Given the description of an element on the screen output the (x, y) to click on. 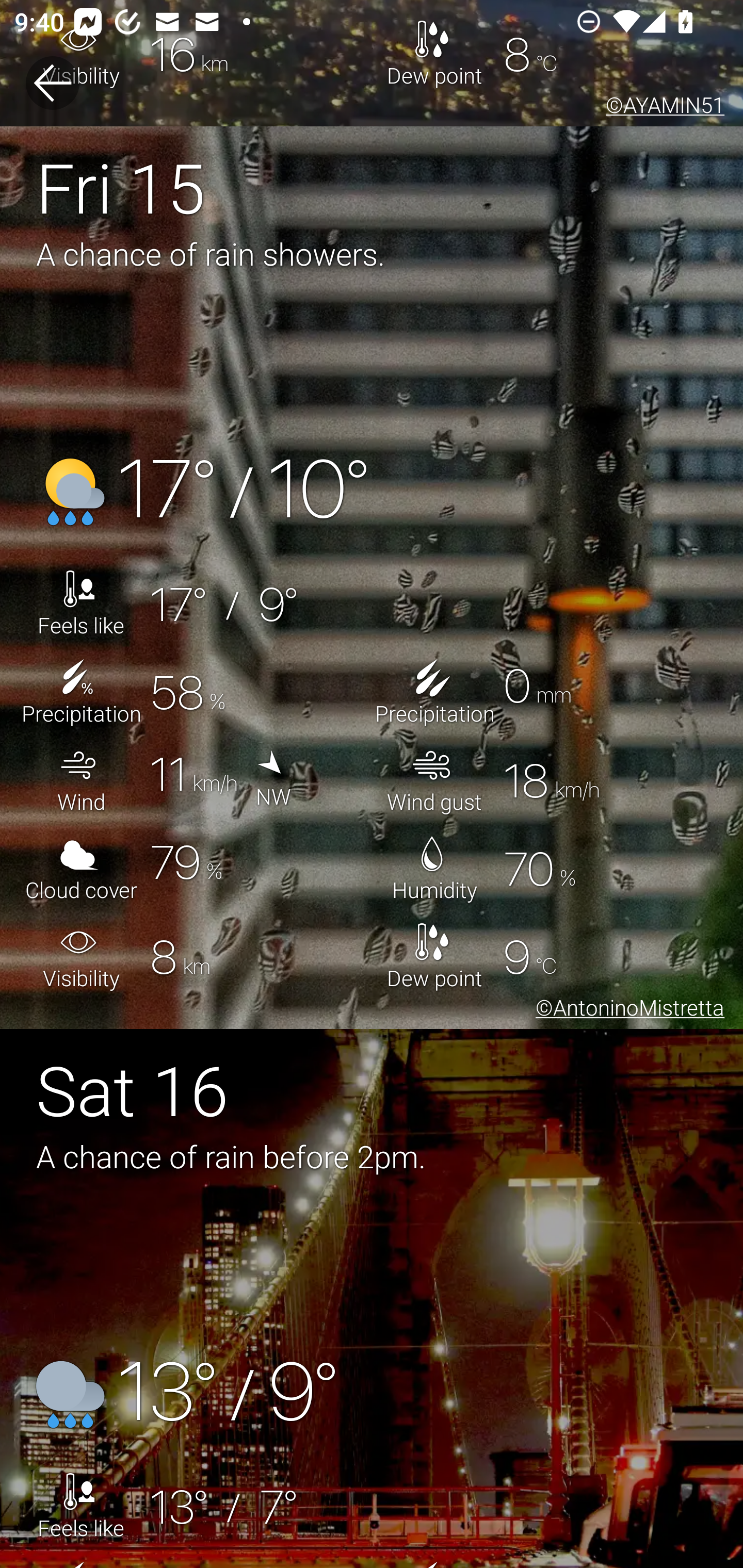
©AYAMIN51 (661, 108)
©AntoninoMistretta (626, 1010)
